Given the description of an element on the screen output the (x, y) to click on. 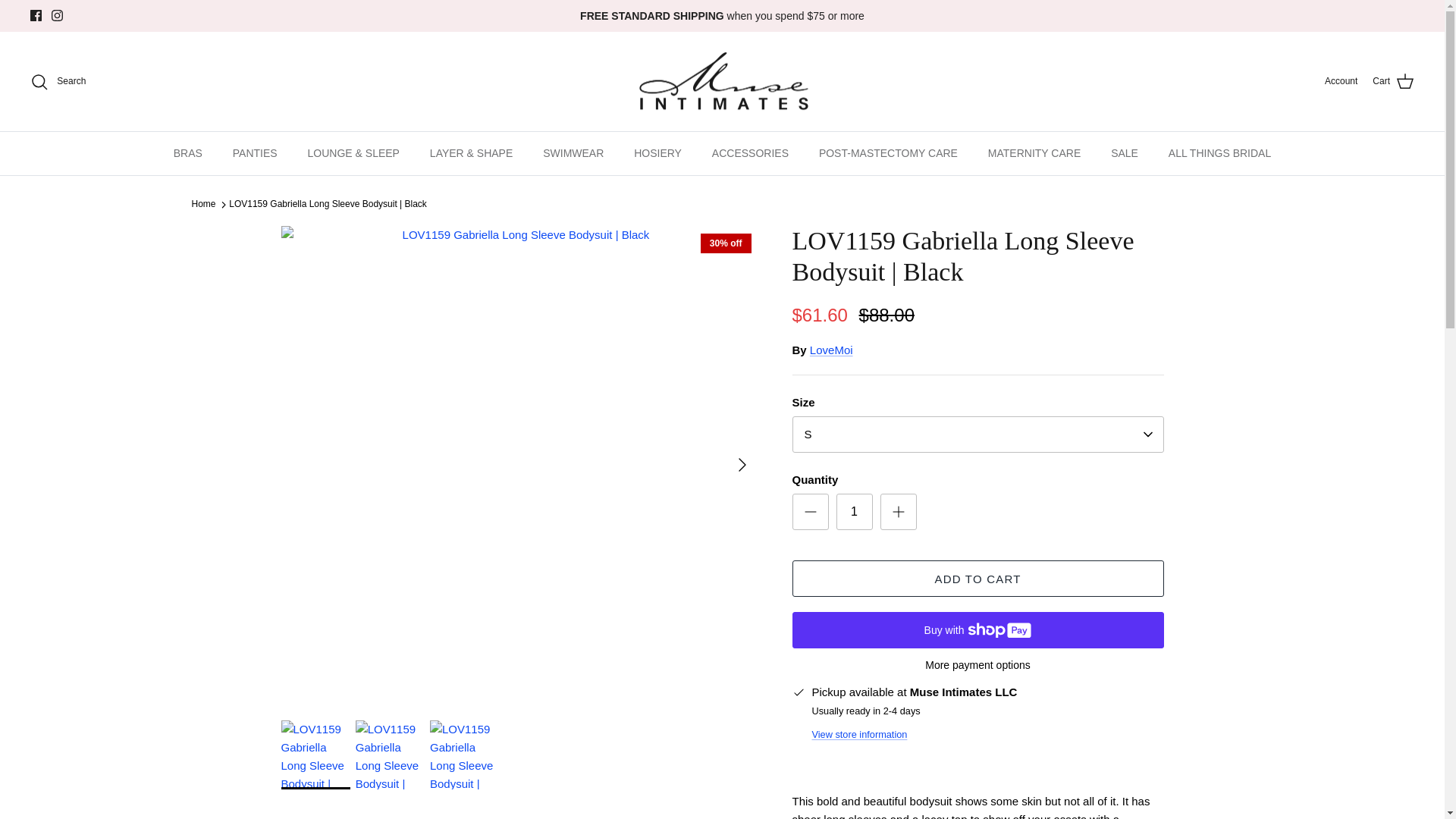
Instagram (56, 15)
Muse Intimates (721, 81)
Instagram (56, 15)
Minus (809, 511)
Facebook (36, 15)
Account (1340, 81)
RIGHT (741, 464)
PANTIES (255, 153)
Plus (897, 511)
Search (57, 81)
